Given the description of an element on the screen output the (x, y) to click on. 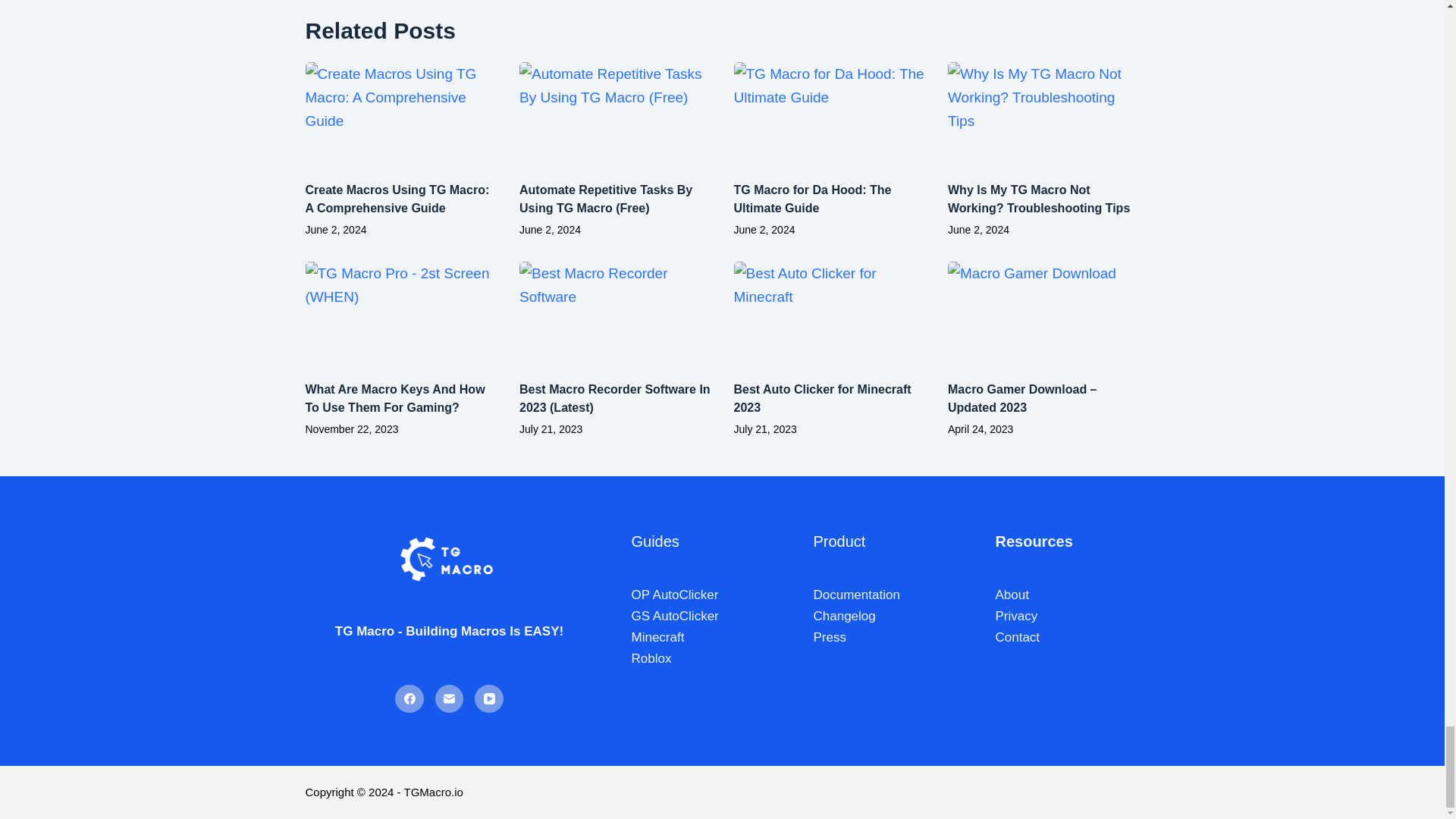
What Are Macro Keys And How To Use Them For Gaming? (394, 398)
TG Macro for Da Hood: The Ultimate Guide (812, 198)
Why Is My TG Macro Not Working? Troubleshooting Tips (1038, 198)
Create Macros Using TG Macro: A Comprehensive Guide (396, 198)
